Given the description of an element on the screen output the (x, y) to click on. 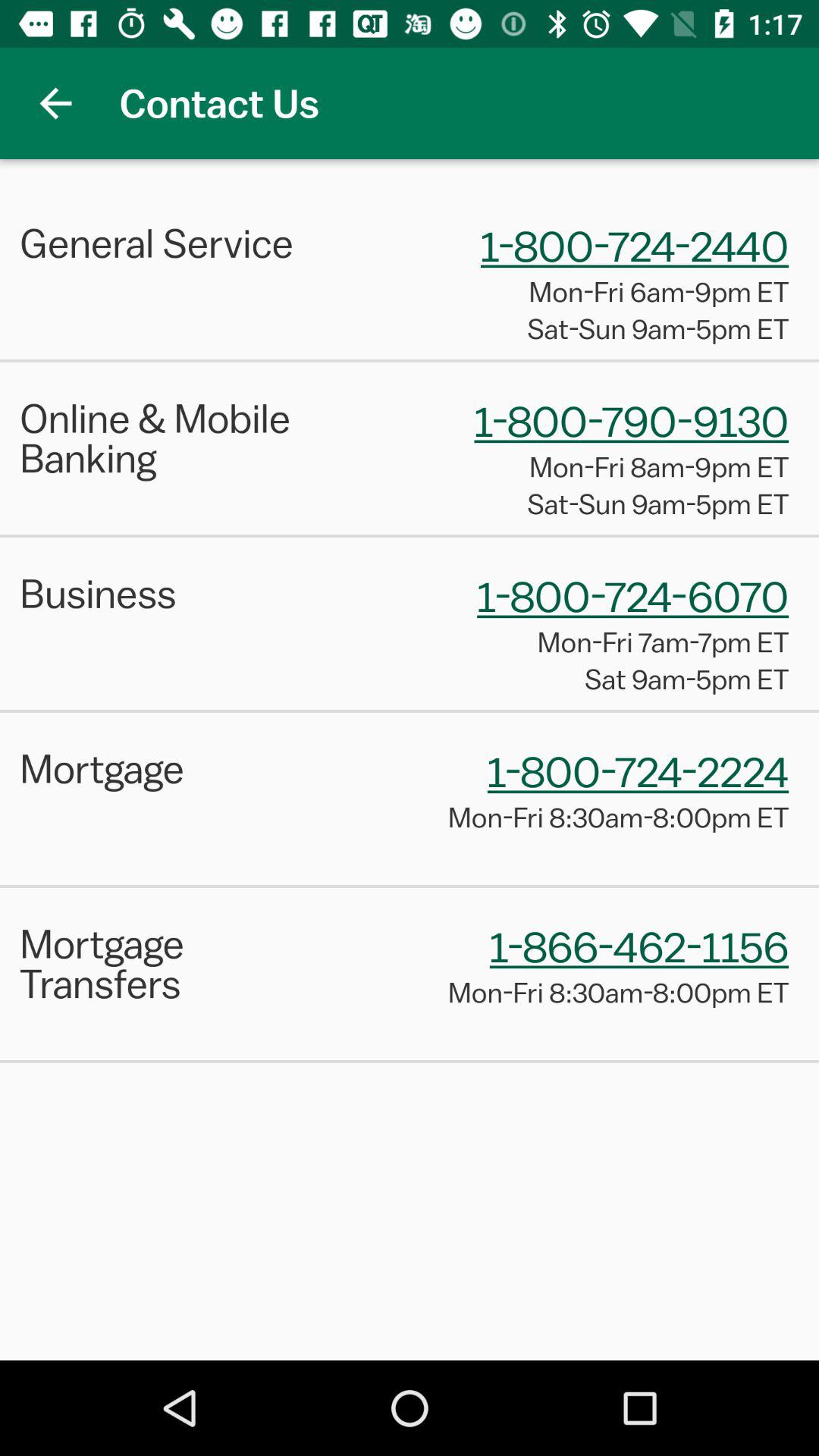
tap the item below the sat sun 9am item (409, 535)
